Given the description of an element on the screen output the (x, y) to click on. 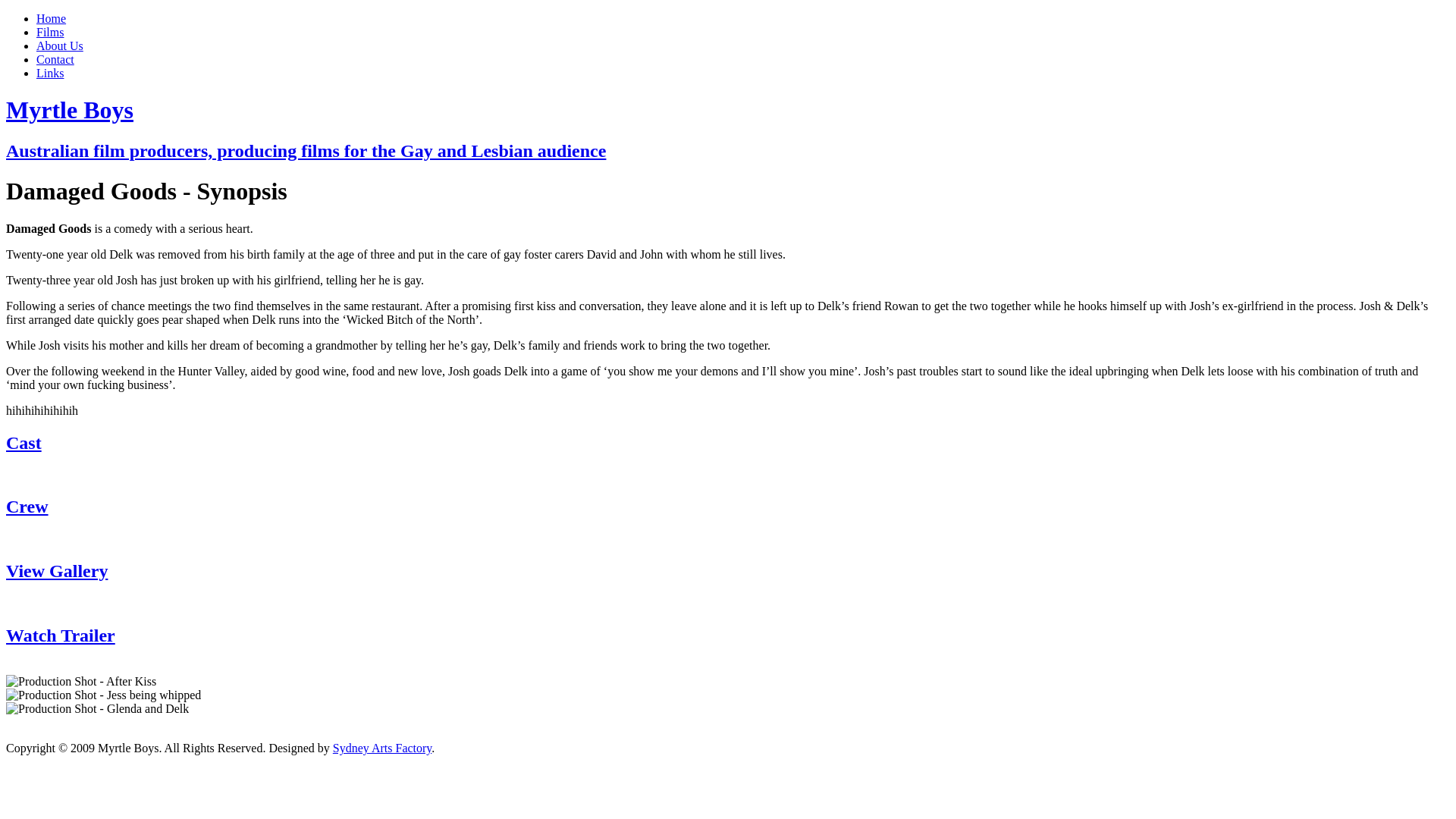
Production Shot - After Kiss Element type: hover (81, 681)
Films Element type: text (49, 31)
Home Element type: text (50, 18)
Production Shot - Jess being whipped Element type: hover (103, 695)
View Gallery Element type: text (56, 570)
Cast Element type: text (23, 442)
Watch Trailer Element type: text (60, 635)
Crew Element type: text (27, 506)
Links Element type: text (49, 72)
Production Shot - Glenda and Delk Element type: hover (97, 708)
Sydney Arts Factory Element type: text (382, 747)
Myrtle Boys Element type: text (69, 109)
About Us Element type: text (59, 45)
Contact Element type: text (55, 59)
